Given the description of an element on the screen output the (x, y) to click on. 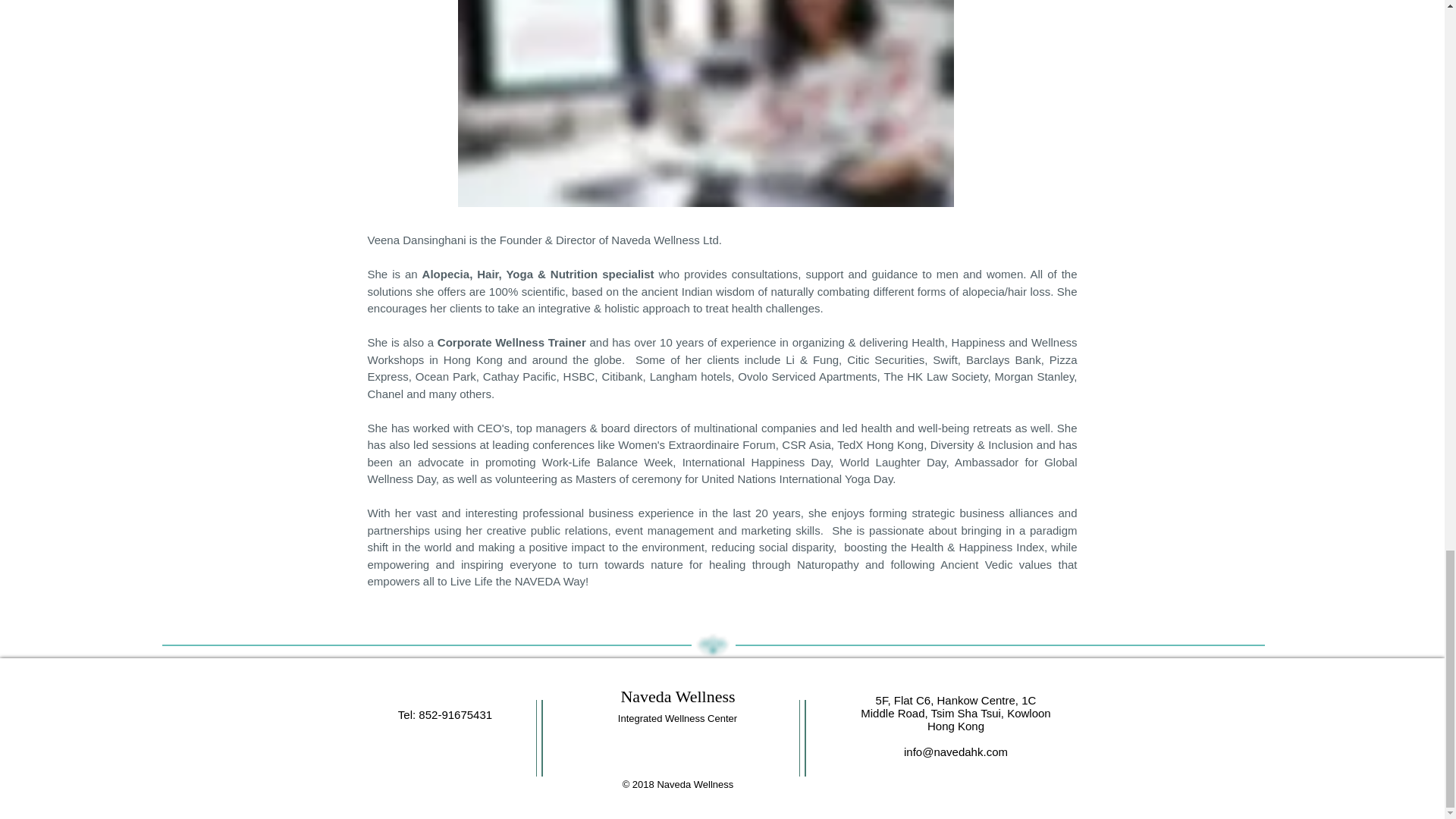
Naveda Wellness (677, 696)
Integrated Wellness Center (676, 717)
